Given the description of an element on the screen output the (x, y) to click on. 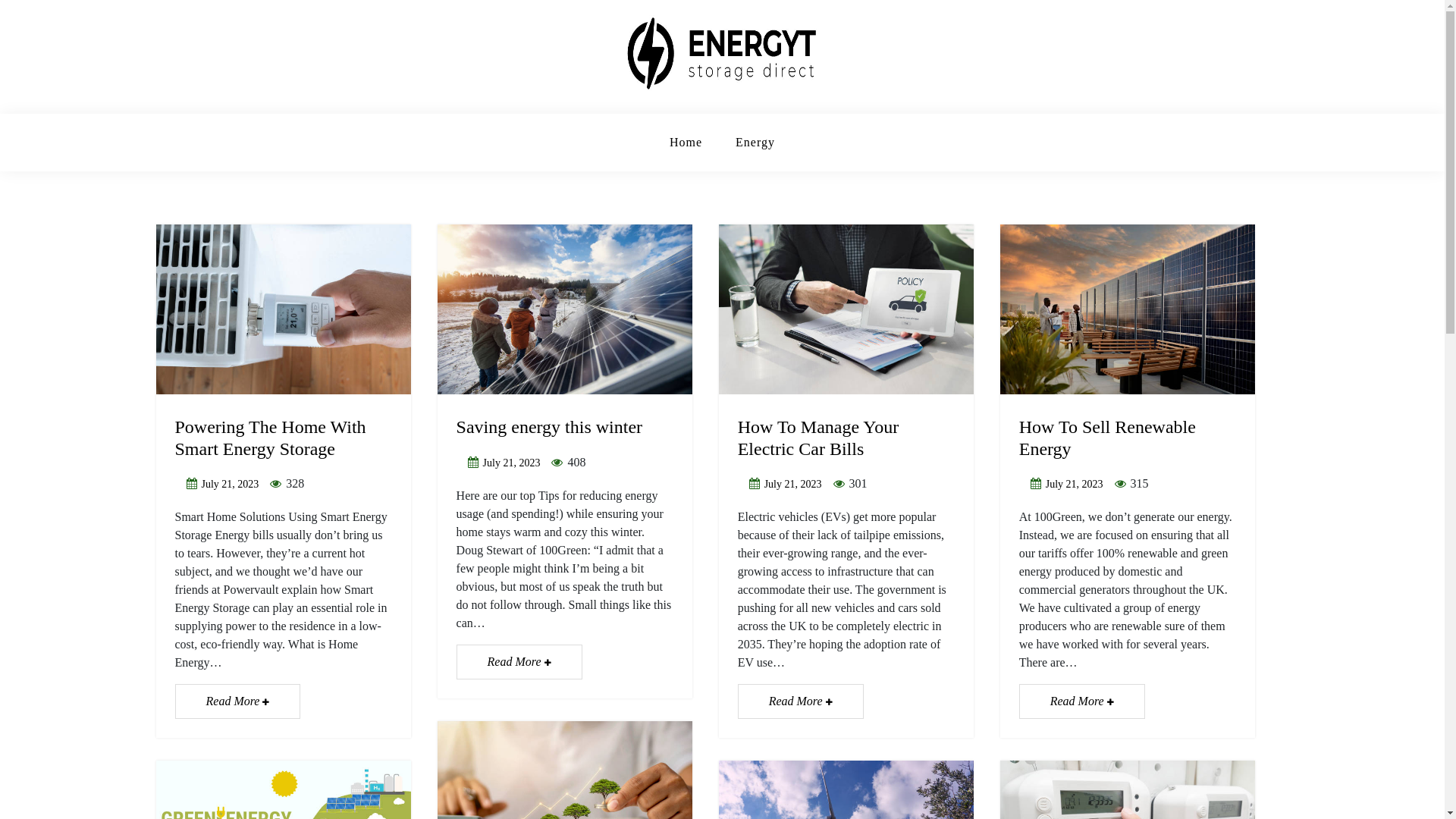
Saving energy this winter Element type: text (549, 426)
July 21, 2023 Element type: text (511, 462)
Read More Element type: text (1082, 701)
How To Manage Your Electric Car Bills Element type: text (818, 437)
Read More Element type: text (800, 701)
Energy Element type: text (755, 142)
July 21, 2023 Element type: text (793, 483)
Energy Storage Direct Element type: text (343, 112)
Powering The Home With Smart Energy Storage Element type: text (269, 437)
July 21, 2023 Element type: text (230, 483)
Read More Element type: text (237, 701)
Home Element type: text (685, 142)
July 21, 2023 Element type: text (1074, 483)
How To Sell Renewable Energy Element type: text (1107, 437)
Read More Element type: text (519, 661)
